Given the description of an element on the screen output the (x, y) to click on. 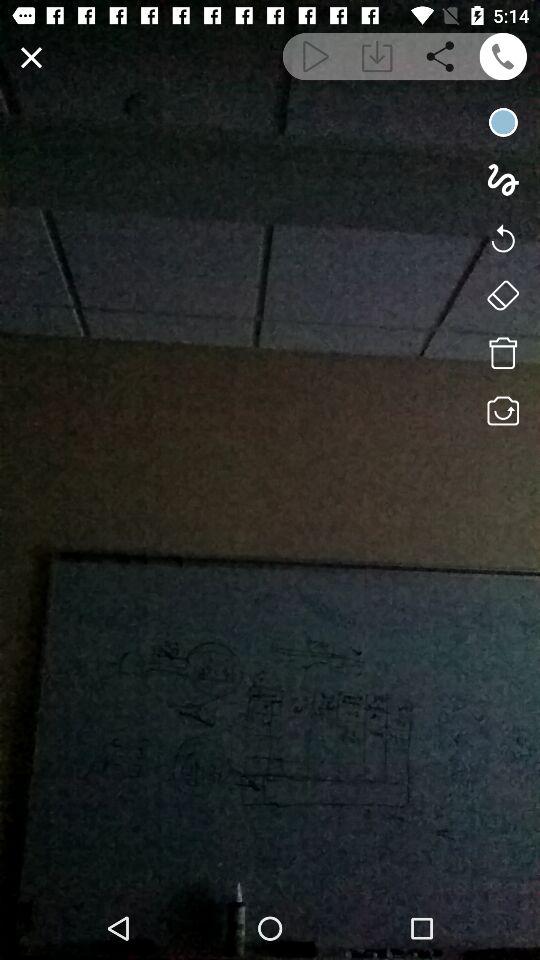
options setting (502, 295)
